Given the description of an element on the screen output the (x, y) to click on. 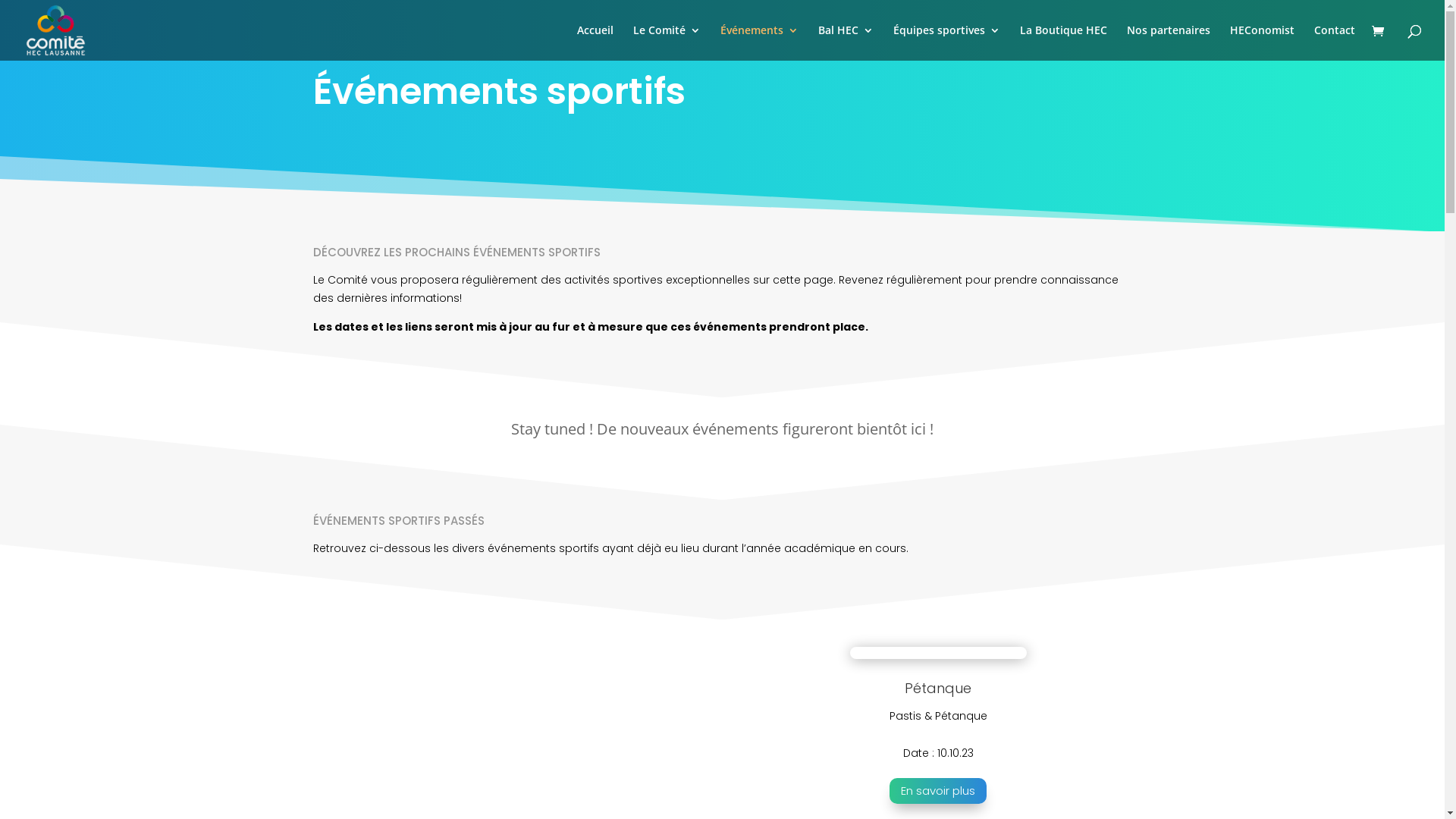
Accueil Element type: text (595, 42)
HEConomist Element type: text (1262, 42)
Nos partenaires Element type: text (1168, 42)
Contact Element type: text (1334, 42)
En savoir plus Element type: text (937, 791)
Bal HEC Element type: text (845, 42)
La Boutique HEC Element type: text (1063, 42)
